Given the description of an element on the screen output the (x, y) to click on. 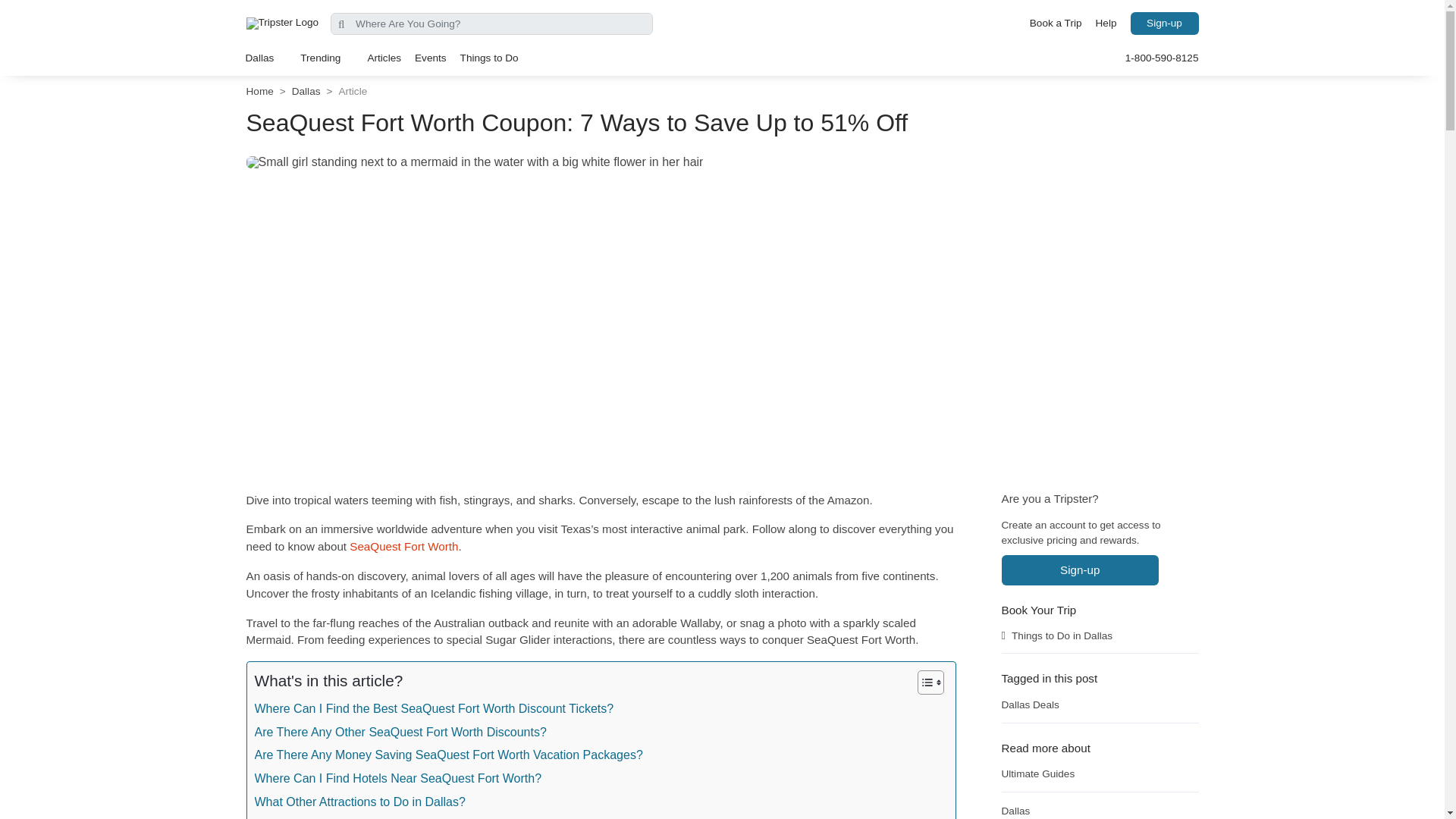
Where Can I Find Hotels Near SeaQuest Fort Worth? (397, 776)
Home (259, 91)
Events (429, 57)
Help (1106, 23)
Are There Any Other SeaQuest Fort Worth Discounts? (400, 730)
Sign-up (1163, 23)
Book a Trip (1056, 23)
Dallas (266, 57)
SeaQuest Fort Worth (403, 545)
Articles (383, 57)
Things to Do (488, 57)
